Given the description of an element on the screen output the (x, y) to click on. 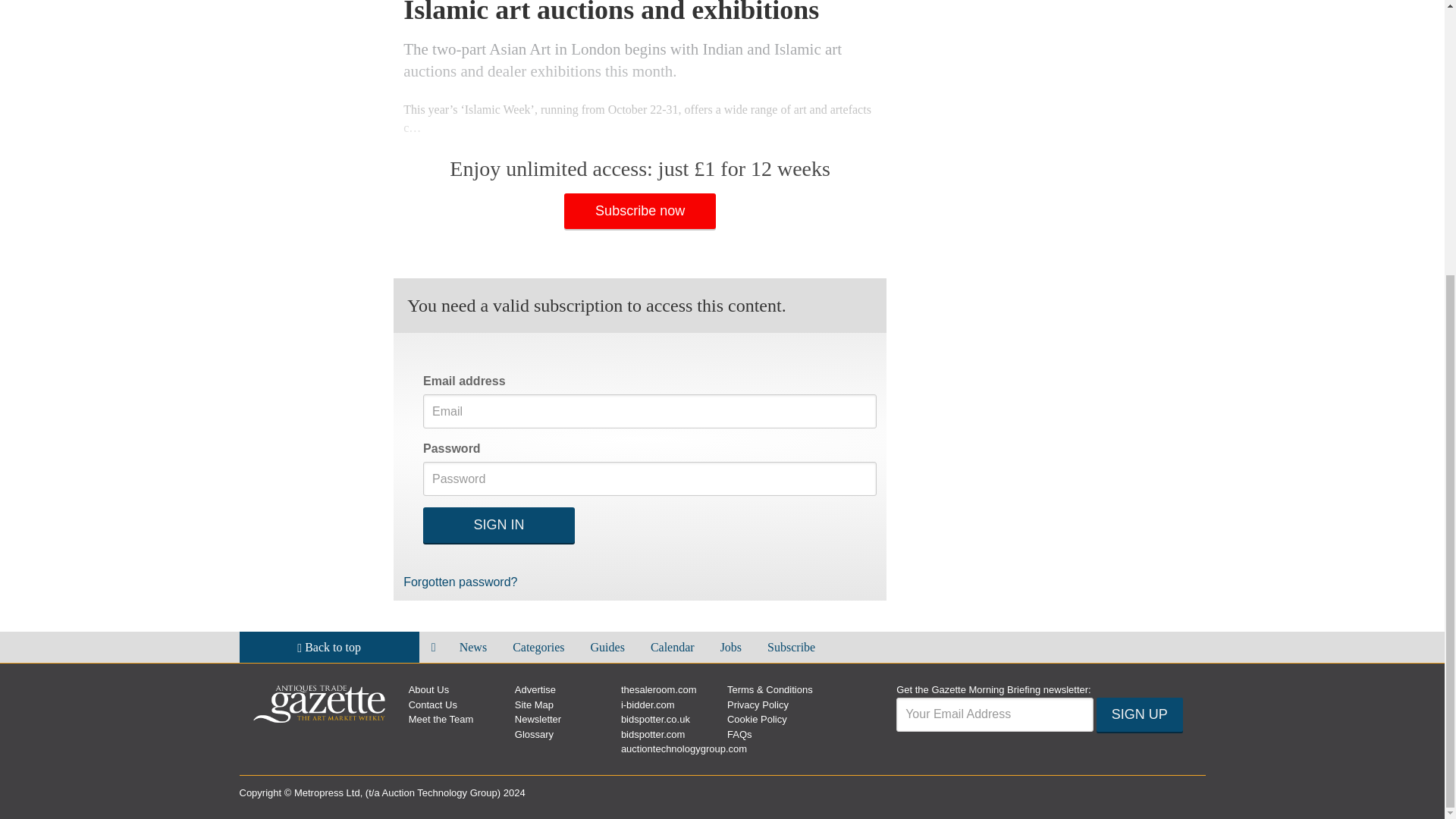
home (433, 646)
Email address (994, 714)
